Given the description of an element on the screen output the (x, y) to click on. 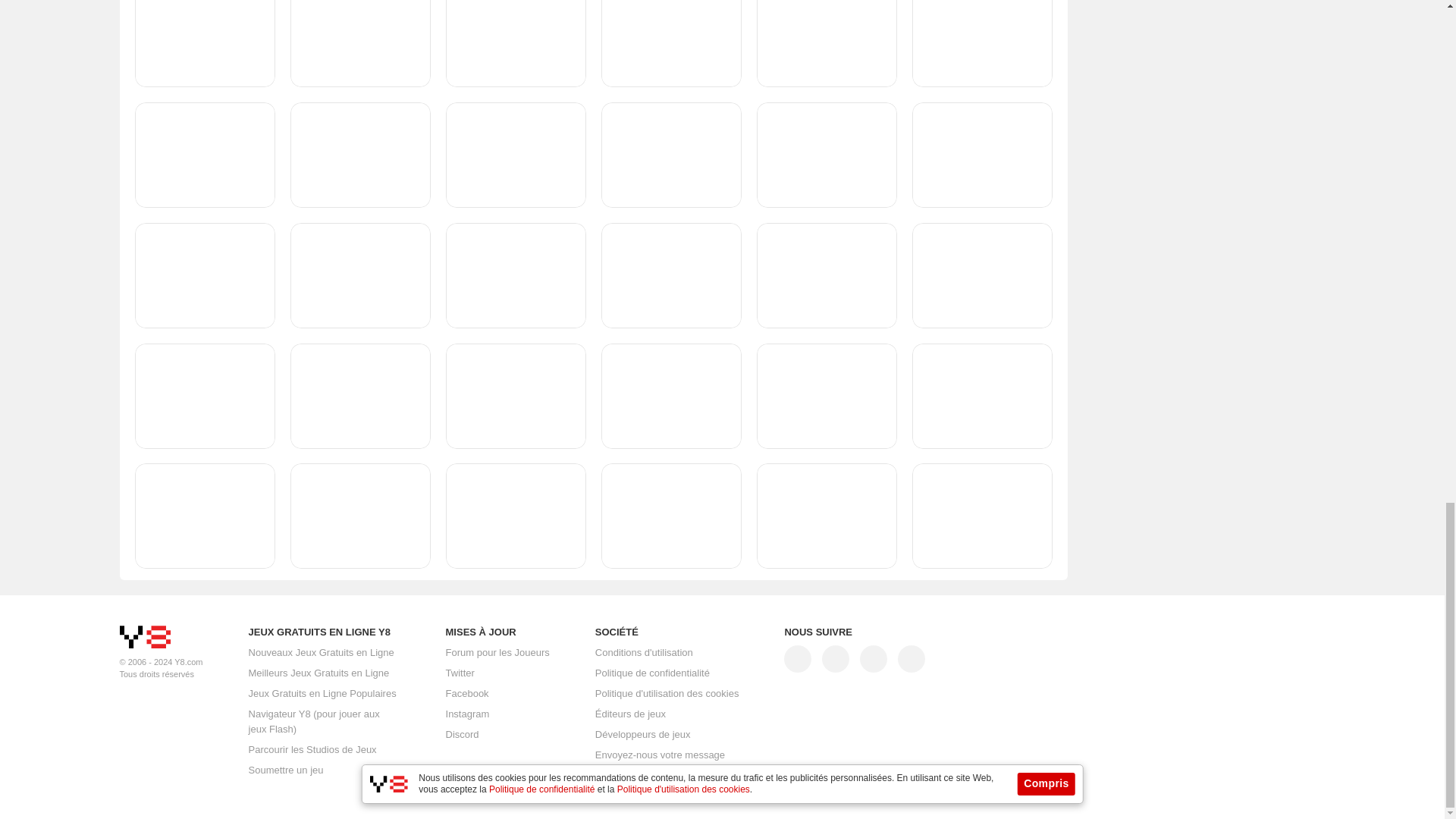
Politique d'utilisation des cookies (667, 693)
Conditions d'utilisation (644, 653)
